Given the description of an element on the screen output the (x, y) to click on. 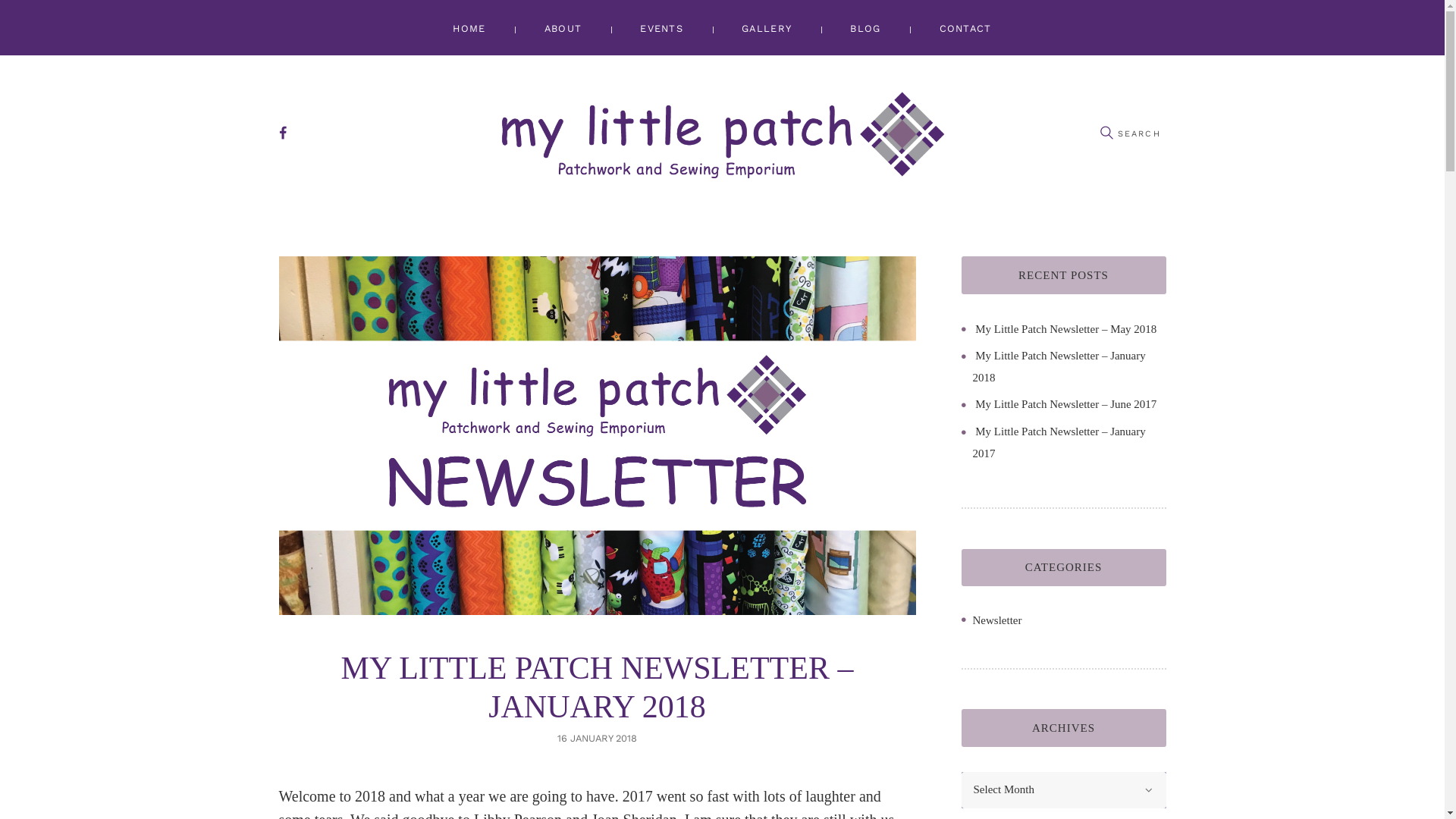
GALLERY Element type: text (766, 27)
ABOUT Element type: text (562, 27)
BLOG Element type: text (865, 27)
CONTACT Element type: text (965, 27)
HOME Element type: text (468, 27)
Newsletter Element type: text (996, 620)
Start search Element type: hover (1105, 132)
EVENTS Element type: text (661, 27)
